Given the description of an element on the screen output the (x, y) to click on. 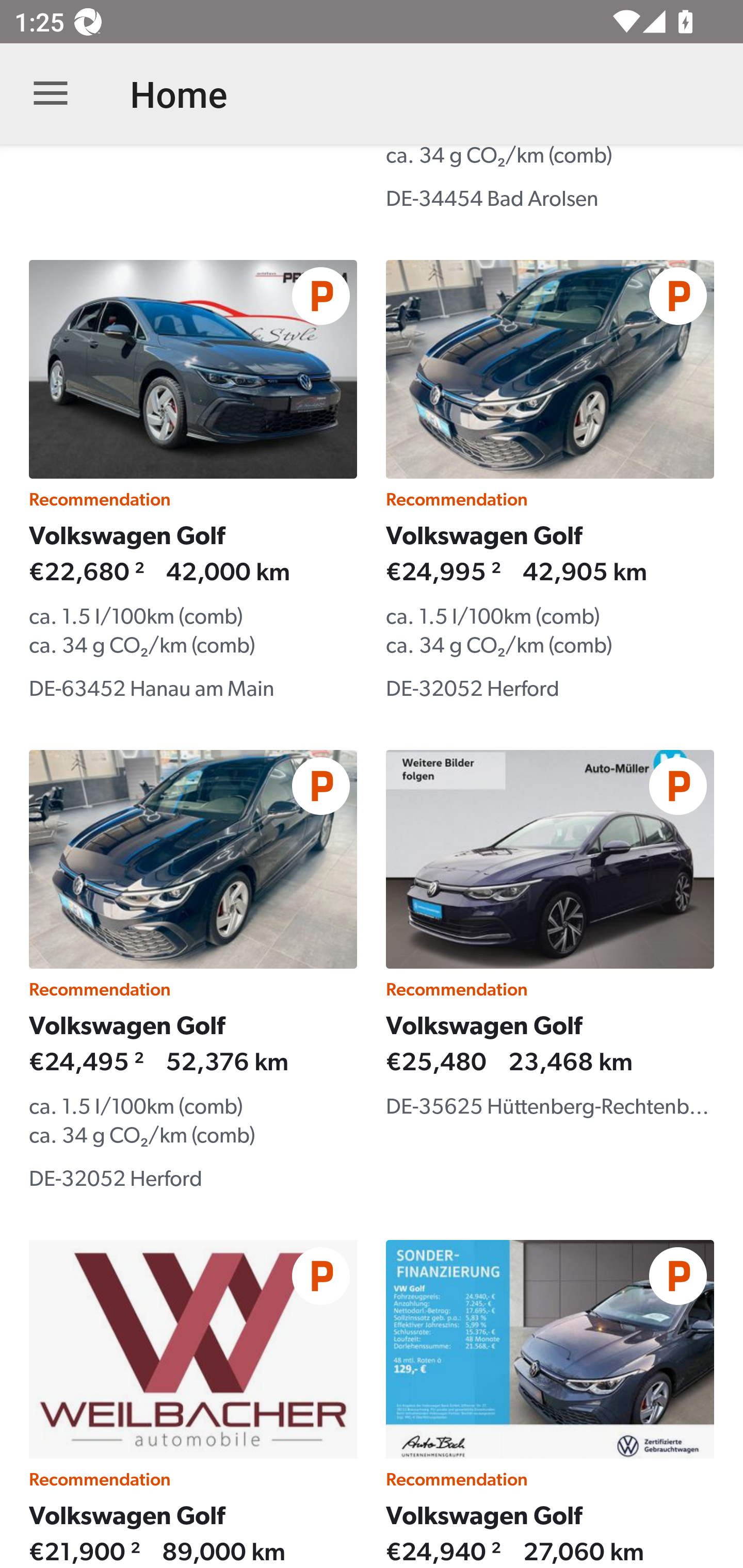
Open navigation bar (50, 93)
Recommendation Volkswagen Golf €21,900 ² 89,000 km (192, 1404)
Recommendation Volkswagen Golf €24,940 ² 27,060 km (549, 1404)
